Given the description of an element on the screen output the (x, y) to click on. 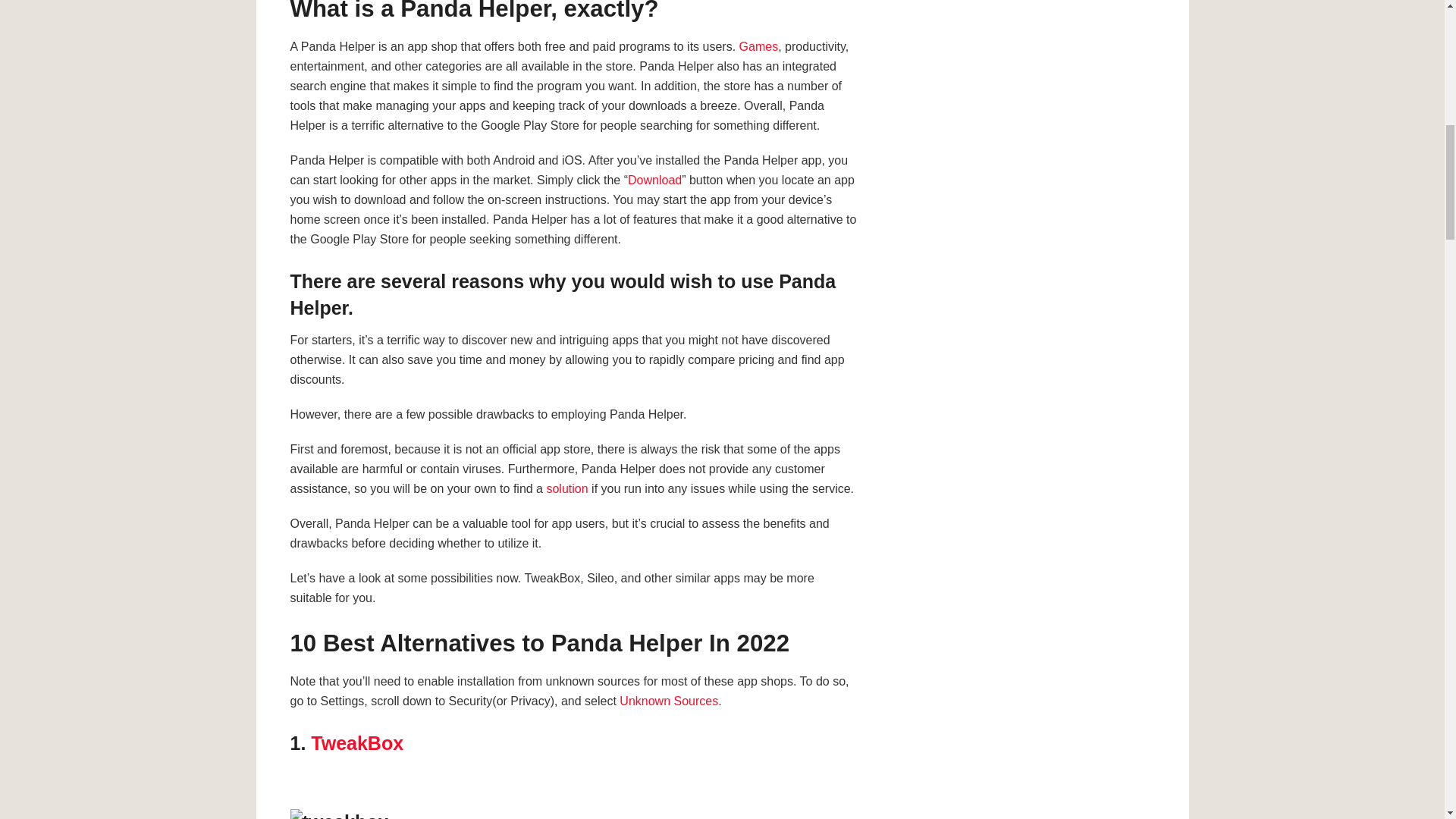
Download (654, 179)
solution (567, 488)
Unknown Sources (668, 700)
Games (758, 46)
